Given the description of an element on the screen output the (x, y) to click on. 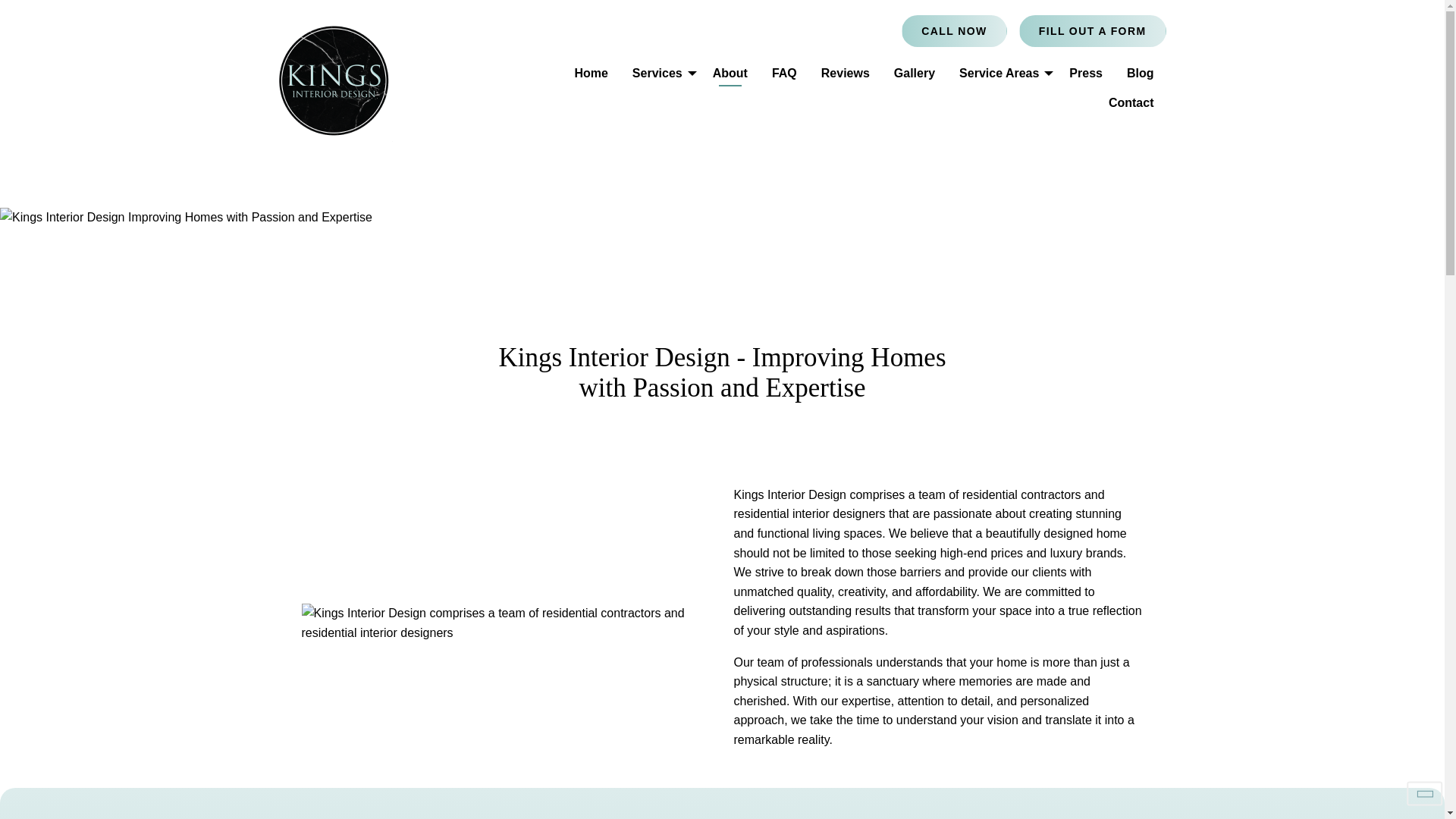
Home (591, 72)
About (730, 72)
Gallery (914, 72)
FILL OUT A FORM (1092, 30)
Reviews (845, 72)
FAQ (784, 72)
Services (660, 72)
Blog (1140, 72)
Contact (1131, 102)
Press (1086, 72)
